Given the description of an element on the screen output the (x, y) to click on. 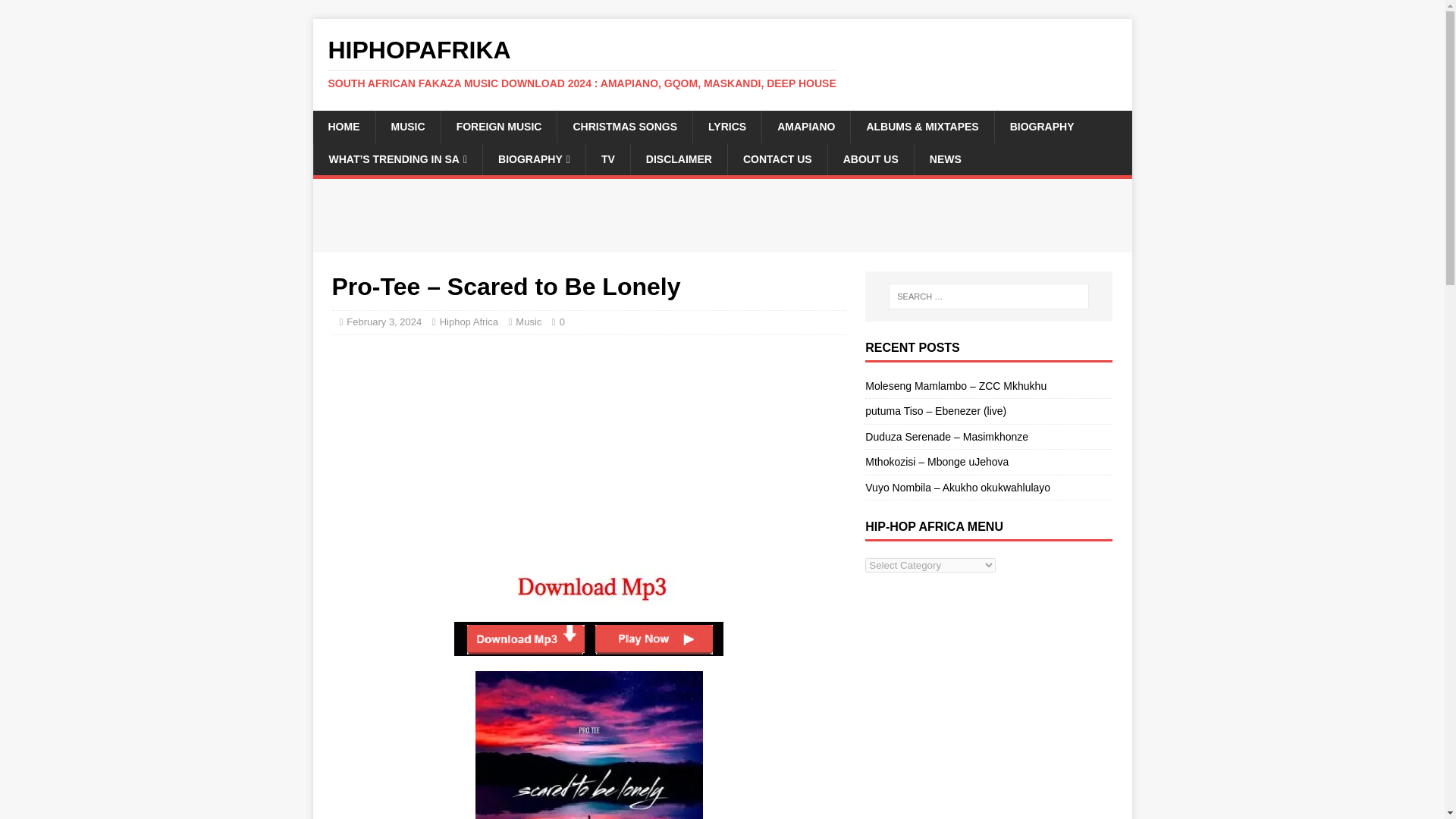
BIOGRAPHY (533, 159)
TV (607, 159)
CHRISTMAS SONGS (624, 126)
LYRICS (727, 126)
Hiphop Africa (468, 321)
Advertisement (588, 213)
NEWS (945, 159)
ABOUT US (870, 159)
AMAPIANO (805, 126)
Advertisement (588, 414)
BIOGRAPHY (1041, 126)
HOME (343, 126)
FOREIGN MUSIC (499, 126)
February 3, 2024 (384, 321)
Advertisement (607, 513)
